Given the description of an element on the screen output the (x, y) to click on. 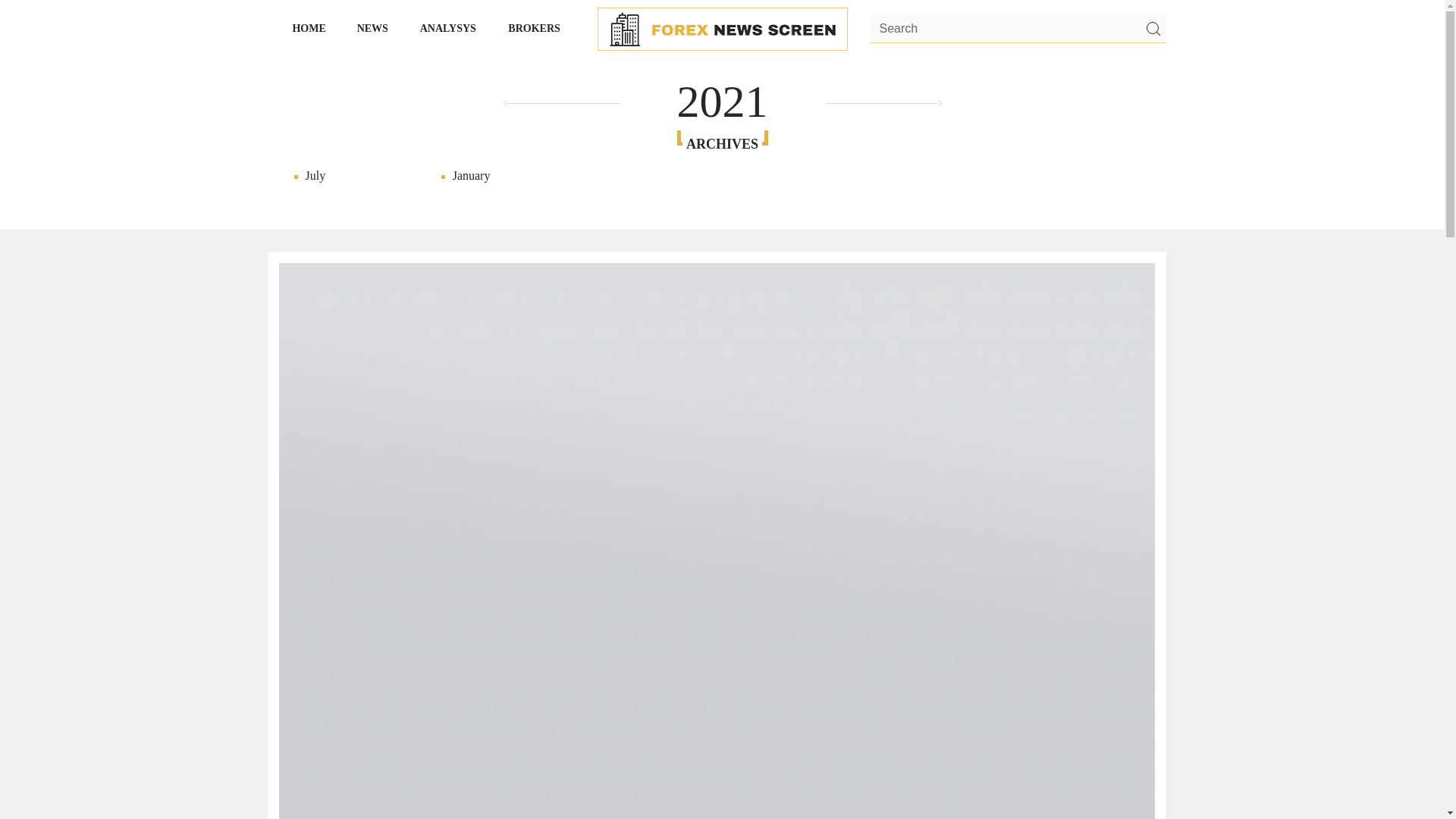
Search (1018, 29)
HOME (309, 28)
November (1240, 191)
NEWS (372, 28)
BROKERS (535, 28)
July (354, 175)
ANALYSYS (448, 28)
Search (1152, 28)
December (1240, 175)
January (501, 175)
